Given the description of an element on the screen output the (x, y) to click on. 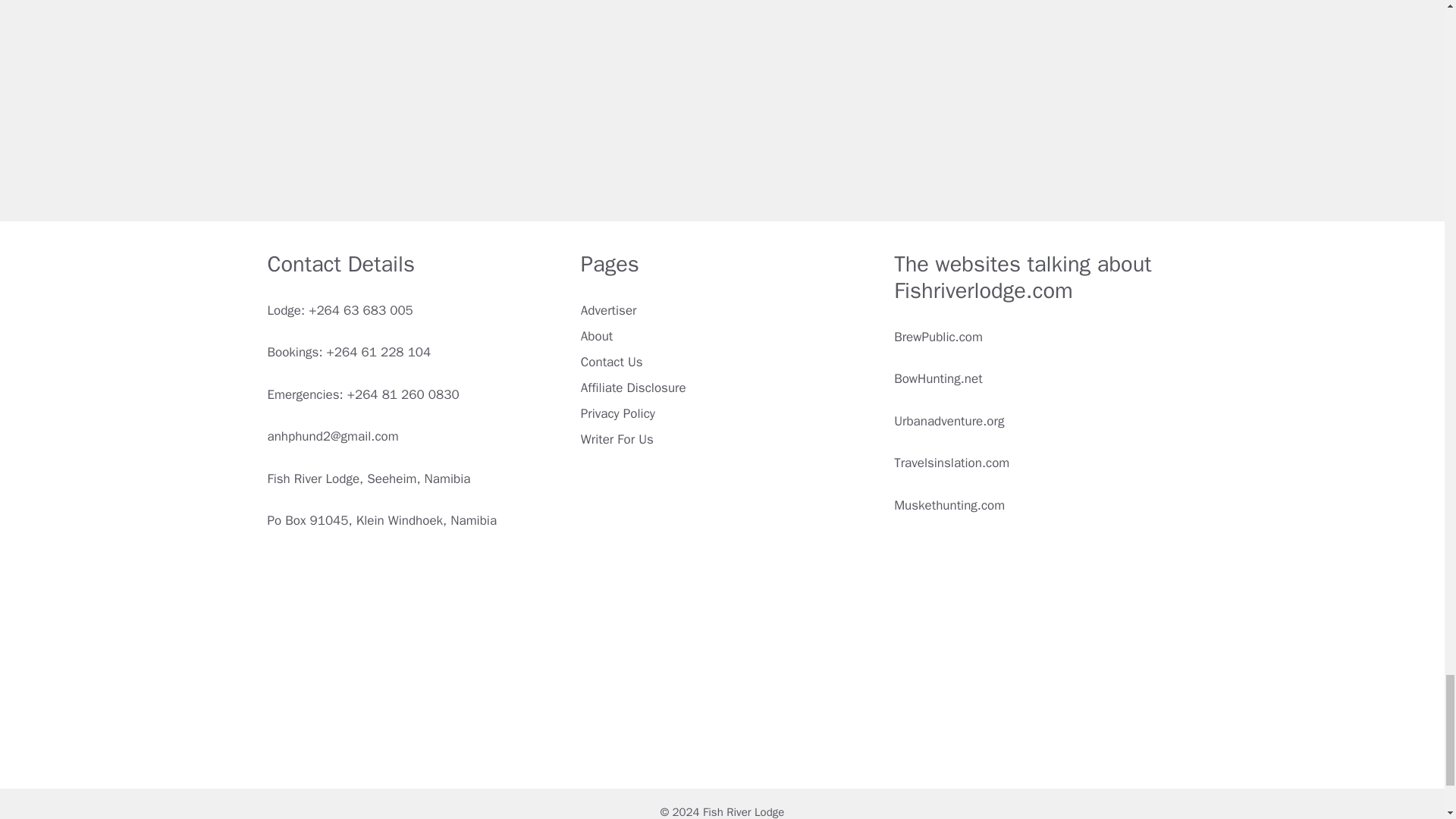
Advertiser (608, 310)
BowHunting.net (937, 378)
Writer For Us (616, 439)
Affiliate Disclosure (632, 387)
BrewPublic.com (937, 336)
Contact Us (611, 361)
About (596, 335)
Privacy Policy (617, 413)
Travelsinslation.com (951, 462)
Urbanadventure.org (948, 421)
